Given the description of an element on the screen output the (x, y) to click on. 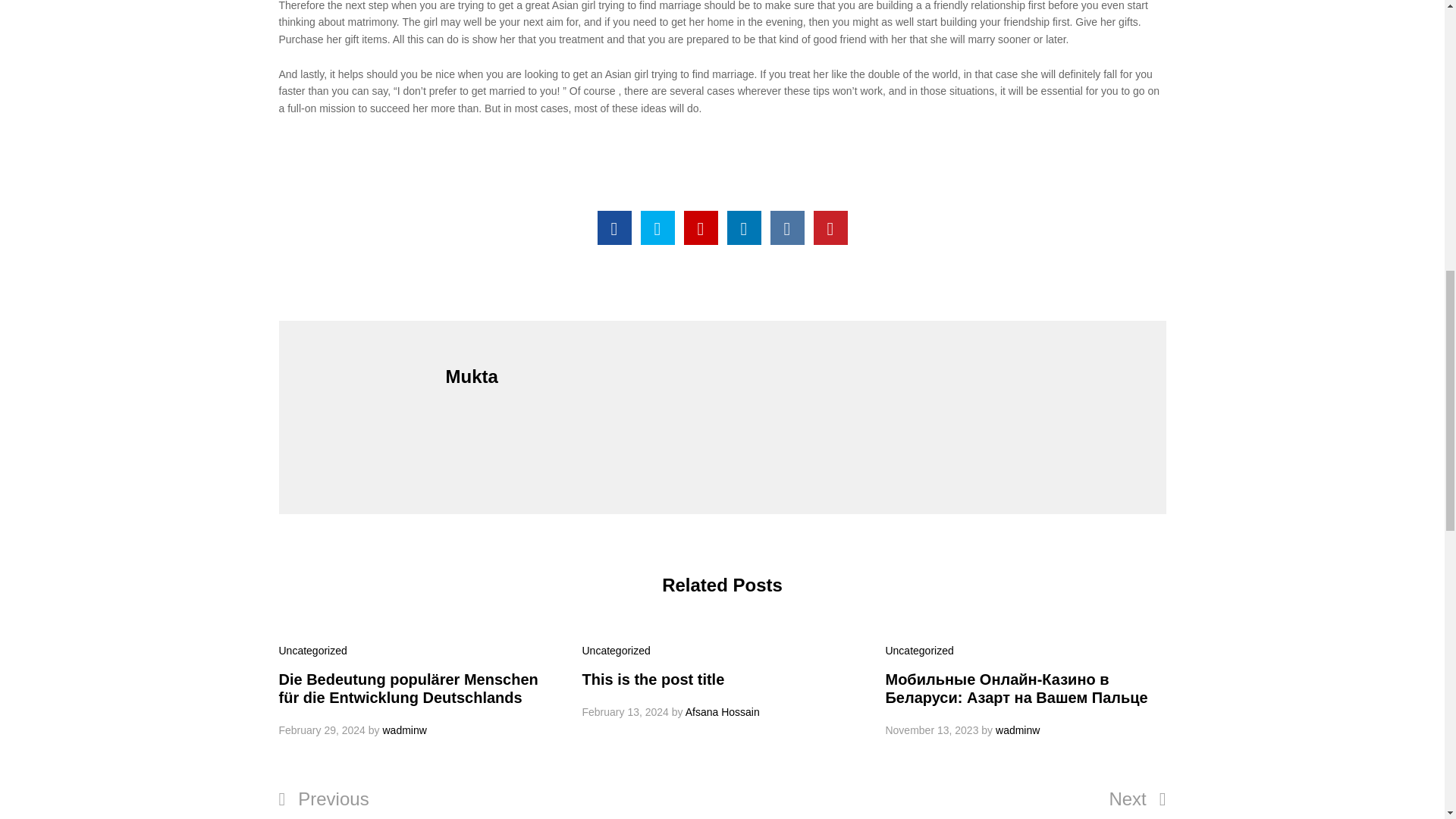
wadminw (403, 729)
wadminw (1017, 729)
Uncategorized (313, 650)
How to Attract Asian Women Looking For Relationship (613, 227)
November 13, 2023 (931, 729)
This is the post title (651, 678)
February 13, 2024 (624, 711)
Uncategorized (919, 650)
Uncategorized (614, 650)
Afsana Hossain (722, 711)
February 29, 2024 (322, 729)
